Given the description of an element on the screen output the (x, y) to click on. 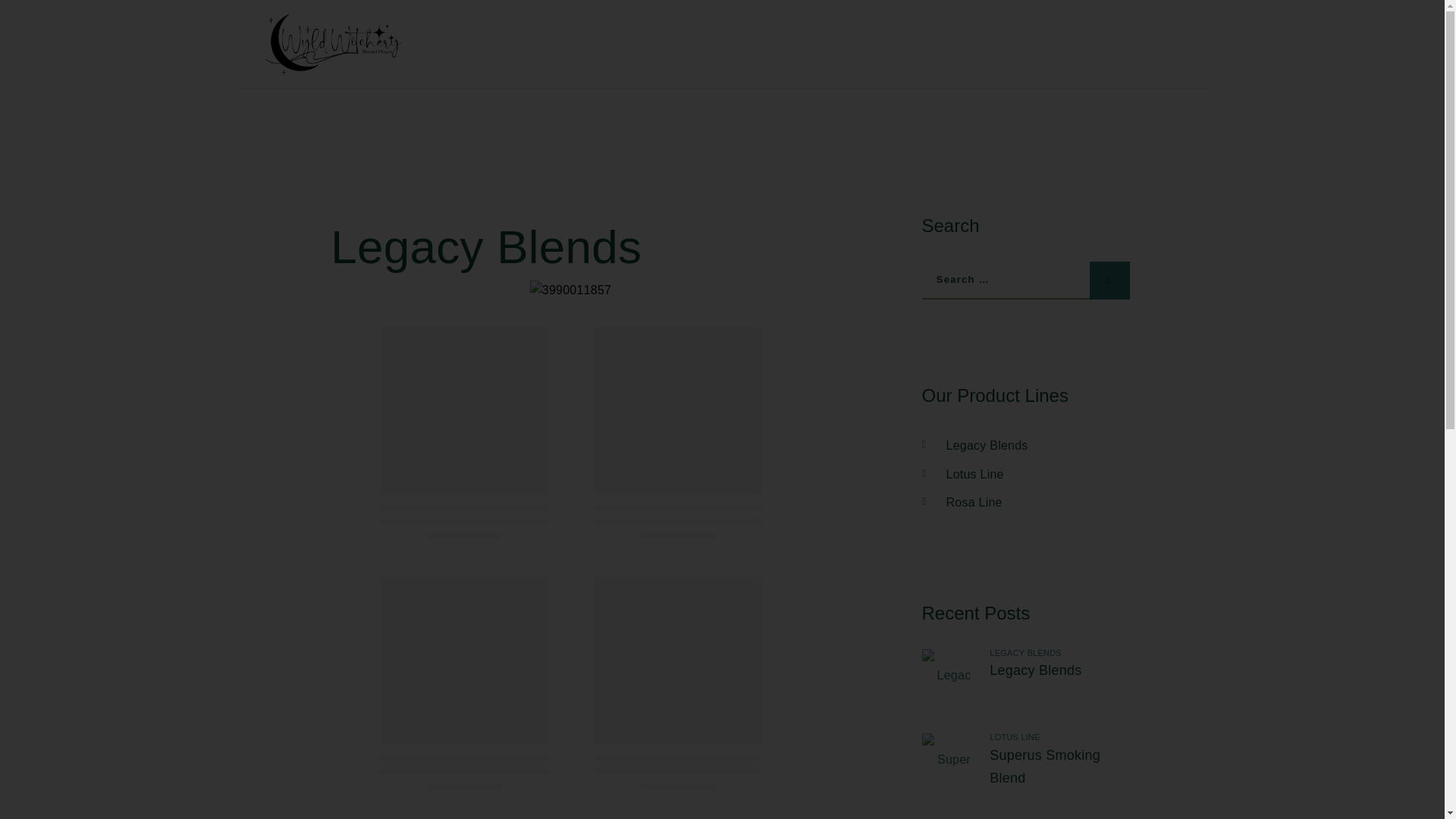
Search (1109, 280)
Search (1109, 280)
3990011857 (570, 289)
View all posts in Legacy Blends (1025, 652)
View all posts in Lotus Line (1015, 737)
